Given the description of an element on the screen output the (x, y) to click on. 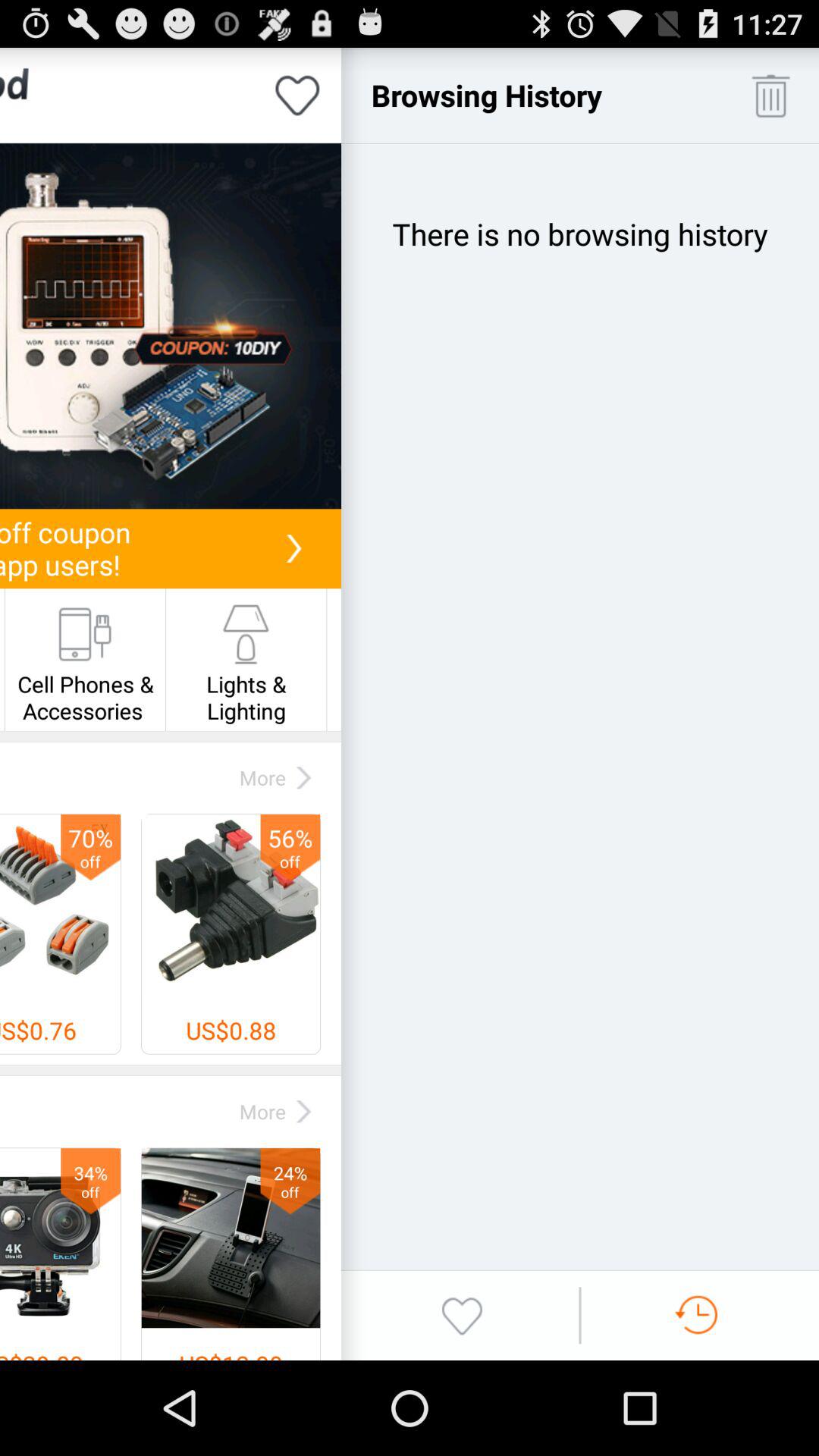
add to favorites (297, 95)
